Given the description of an element on the screen output the (x, y) to click on. 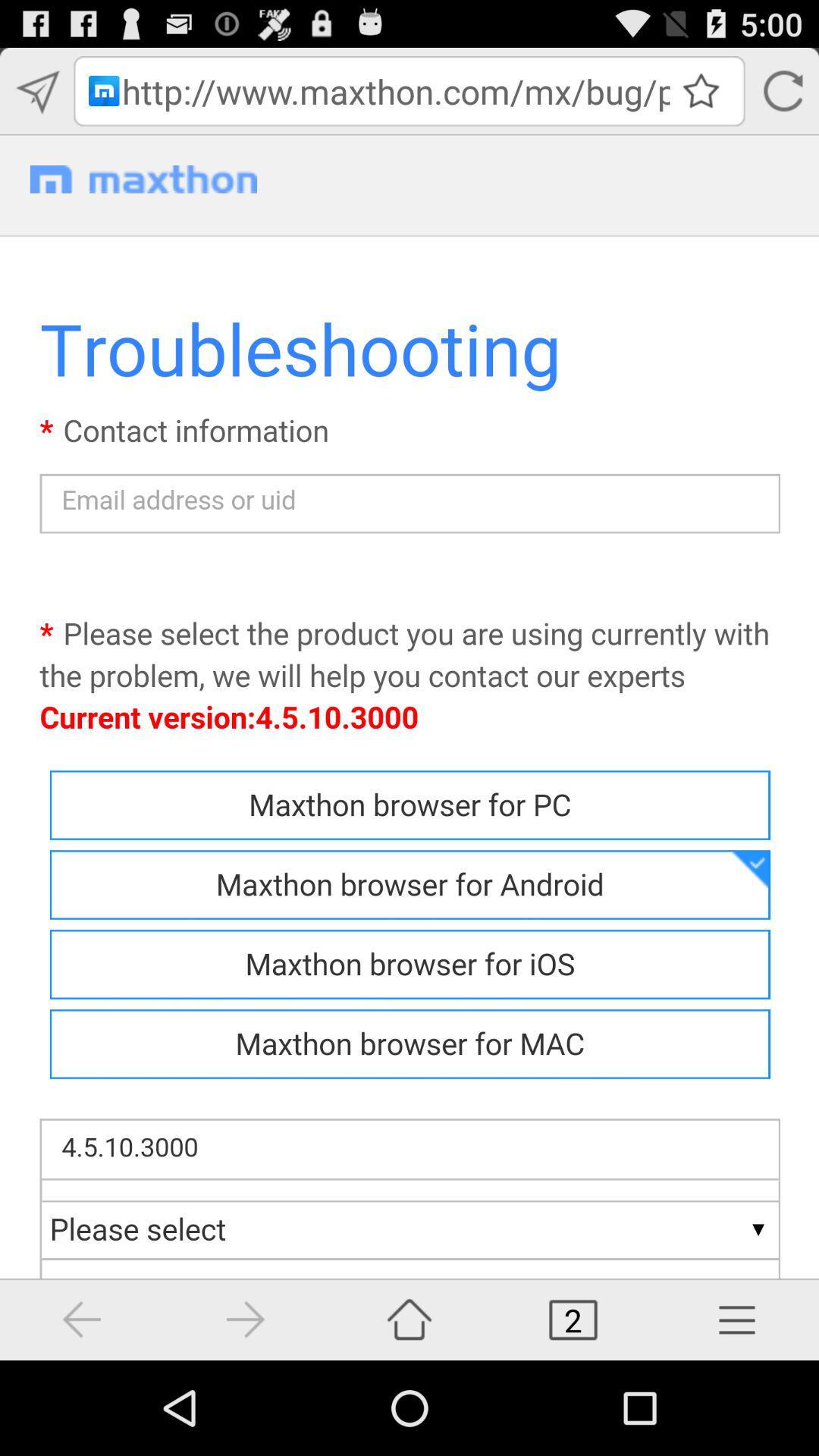
troubleshooting (409, 747)
